Given the description of an element on the screen output the (x, y) to click on. 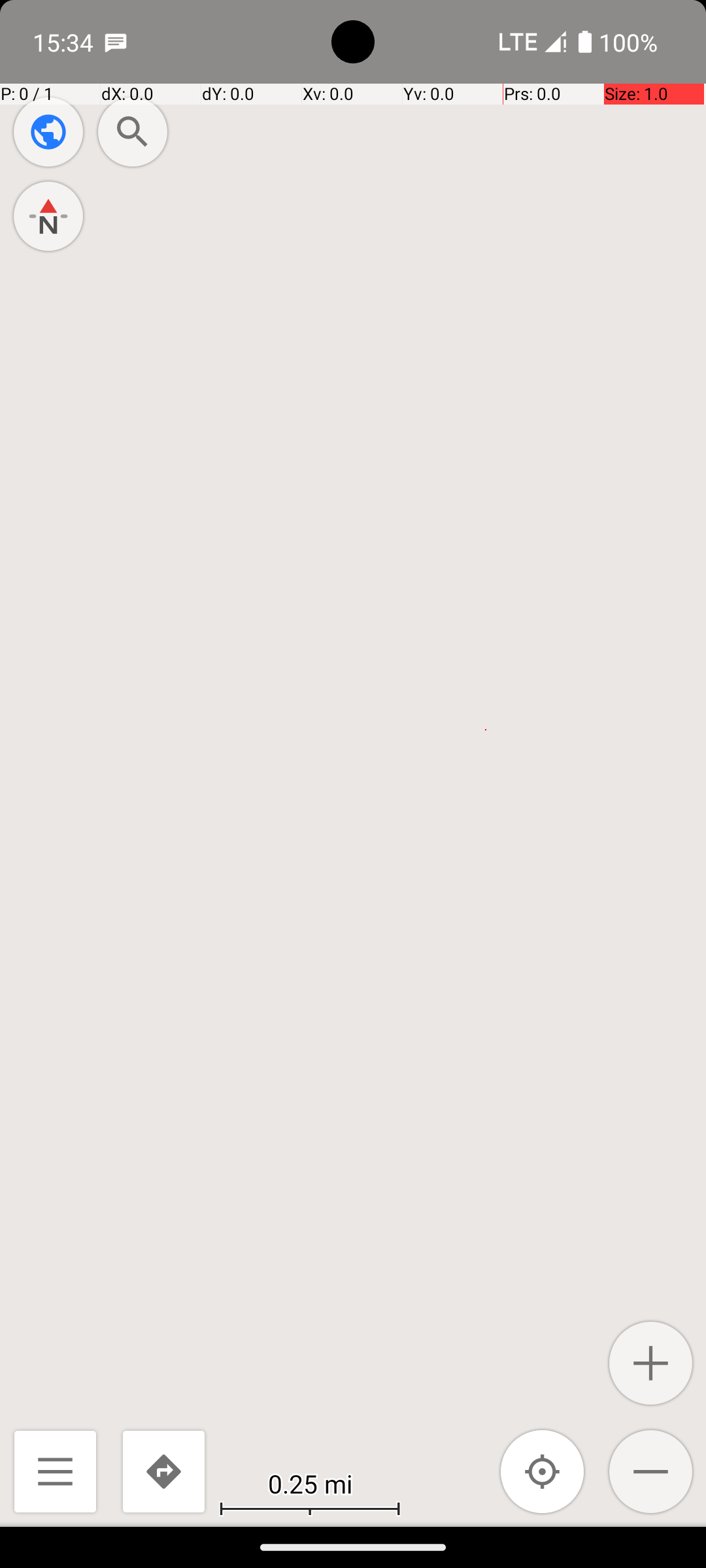
0.25 mi Element type: android.widget.TextView (309, 1483)
